Given the description of an element on the screen output the (x, y) to click on. 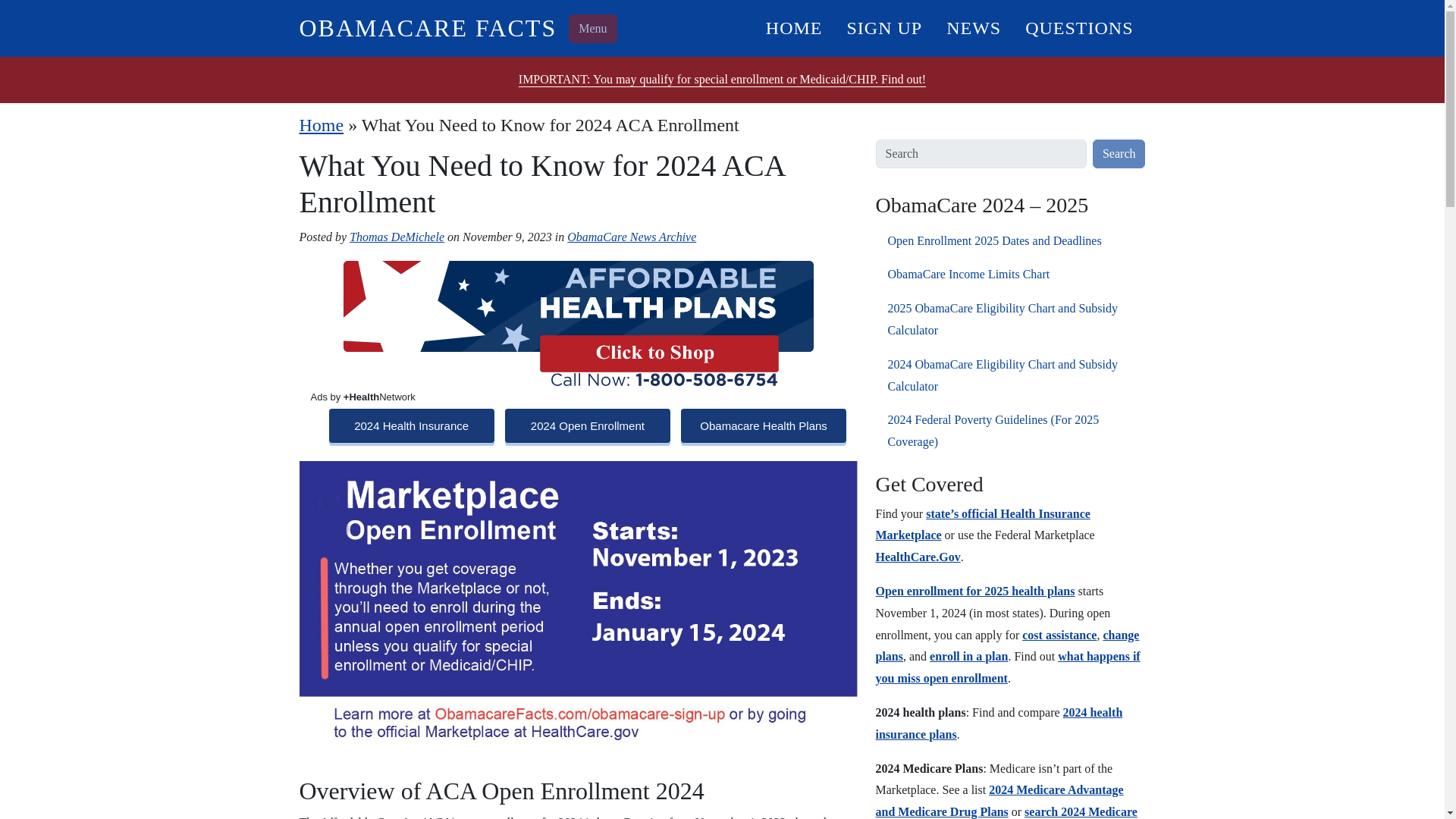
Federal HealthCare.Gov (917, 556)
Open enrollment for 2025 health plans (974, 590)
SIGN UP (884, 27)
OBAMACARE FACTS (427, 28)
Obamacare cost assistance (1059, 634)
2024 health insurance plans (998, 723)
NEWS (973, 27)
State's Health Insurance Marketplace (982, 524)
Enroll in an Obamacare plan (968, 656)
